Given the description of an element on the screen output the (x, y) to click on. 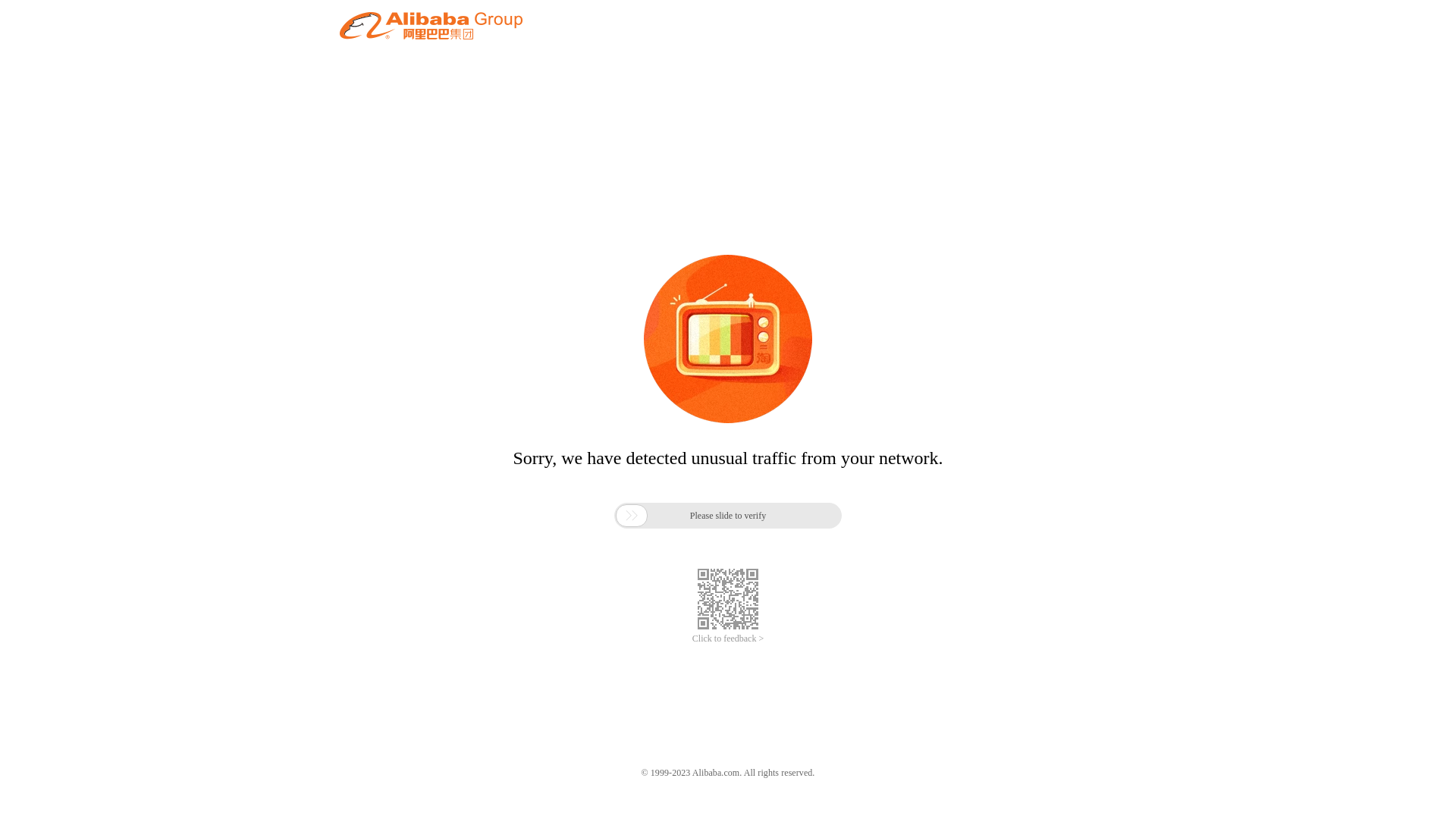
Click to feedback > Element type: text (727, 638)
